Given the description of an element on the screen output the (x, y) to click on. 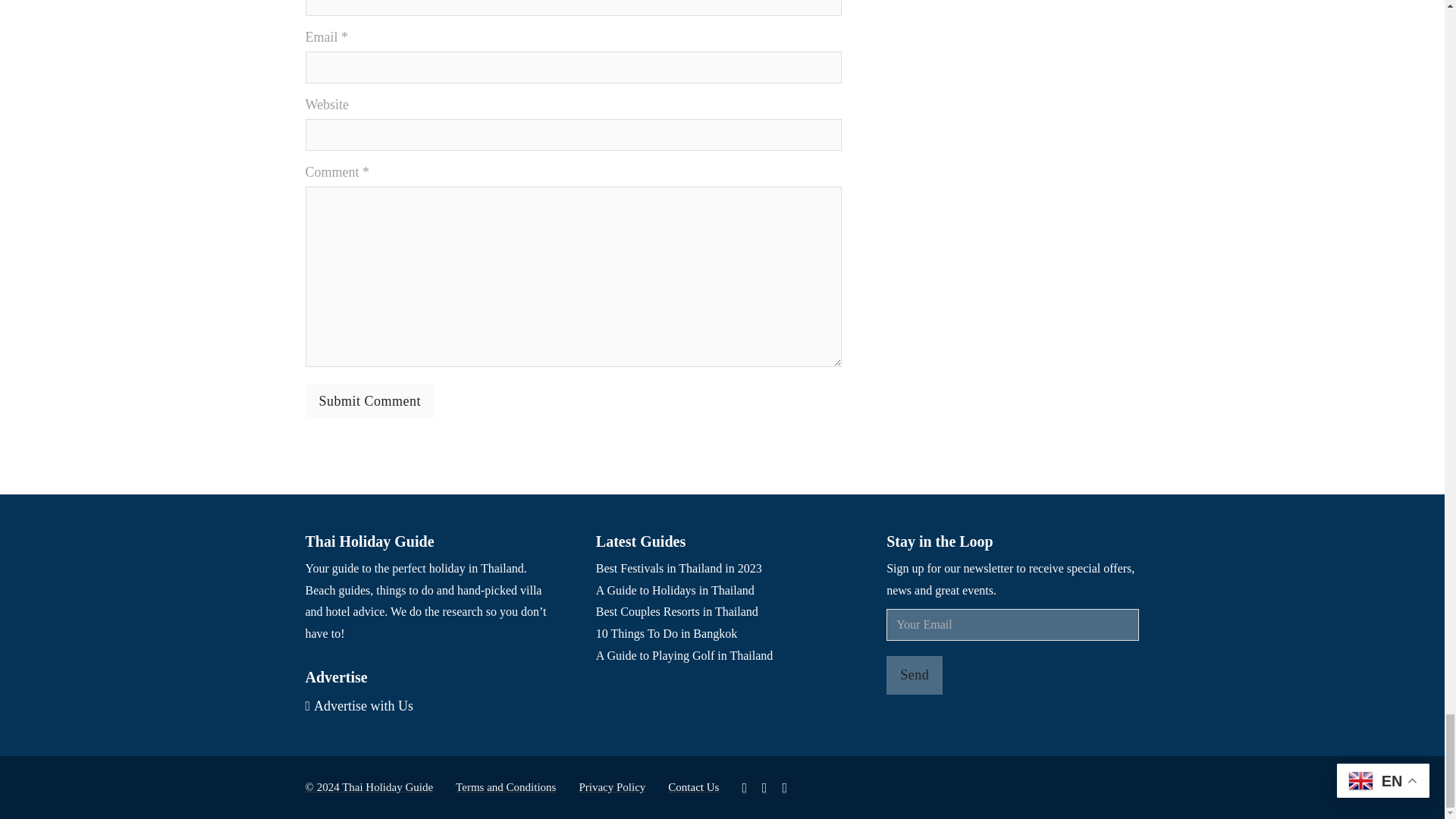
Submit Comment (368, 401)
